Given the description of an element on the screen output the (x, y) to click on. 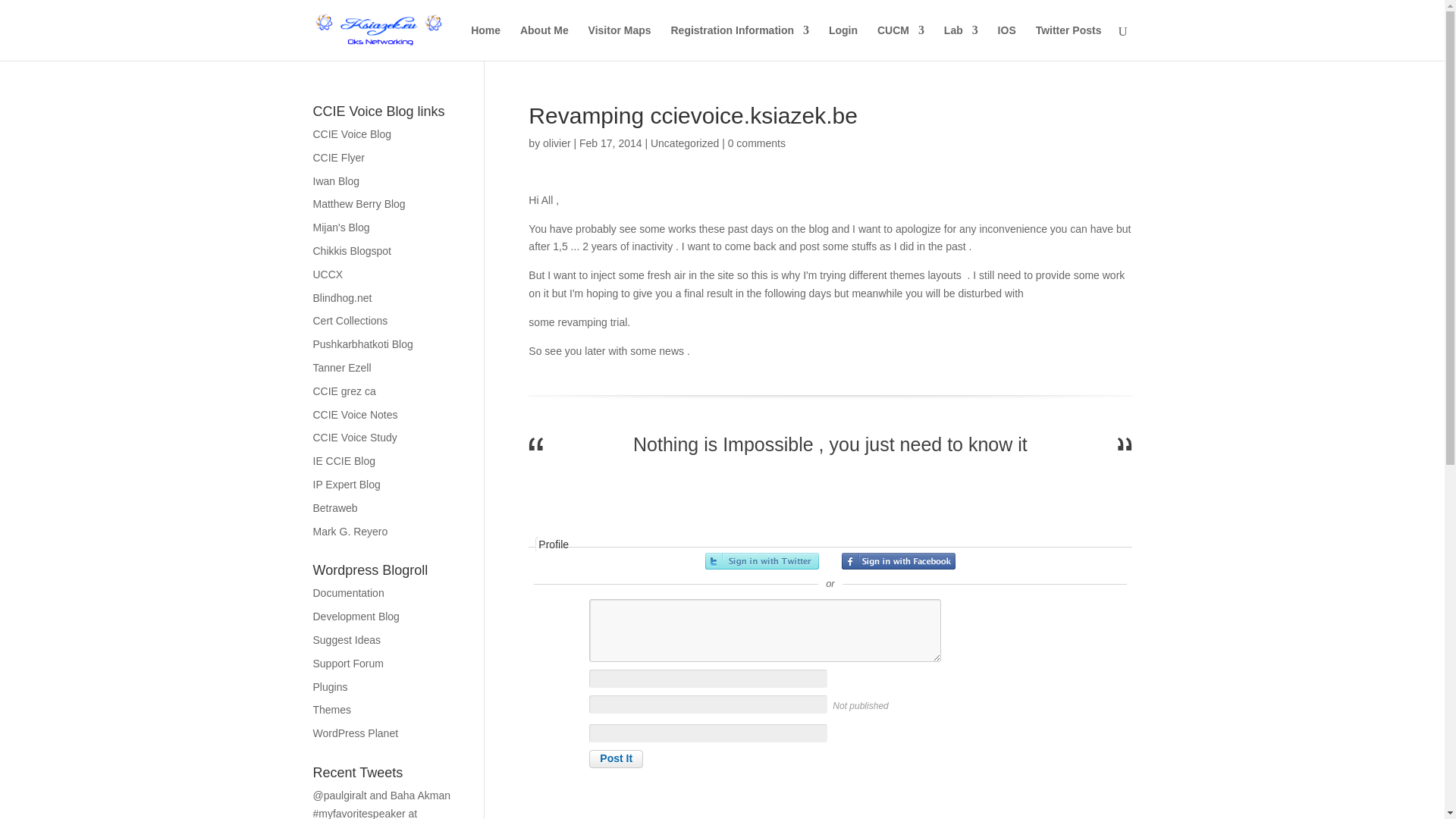
Posts by olivier (556, 143)
Twitter Posts (1068, 42)
An amazing other Cccie Voice blog (358, 203)
olivier (556, 143)
CCIE Flyer (338, 157)
Blindhog.net  (342, 297)
Lab (960, 42)
Cert Collections Forums (350, 320)
Pushkarbhatkoti Blog (362, 344)
